Given the description of an element on the screen output the (x, y) to click on. 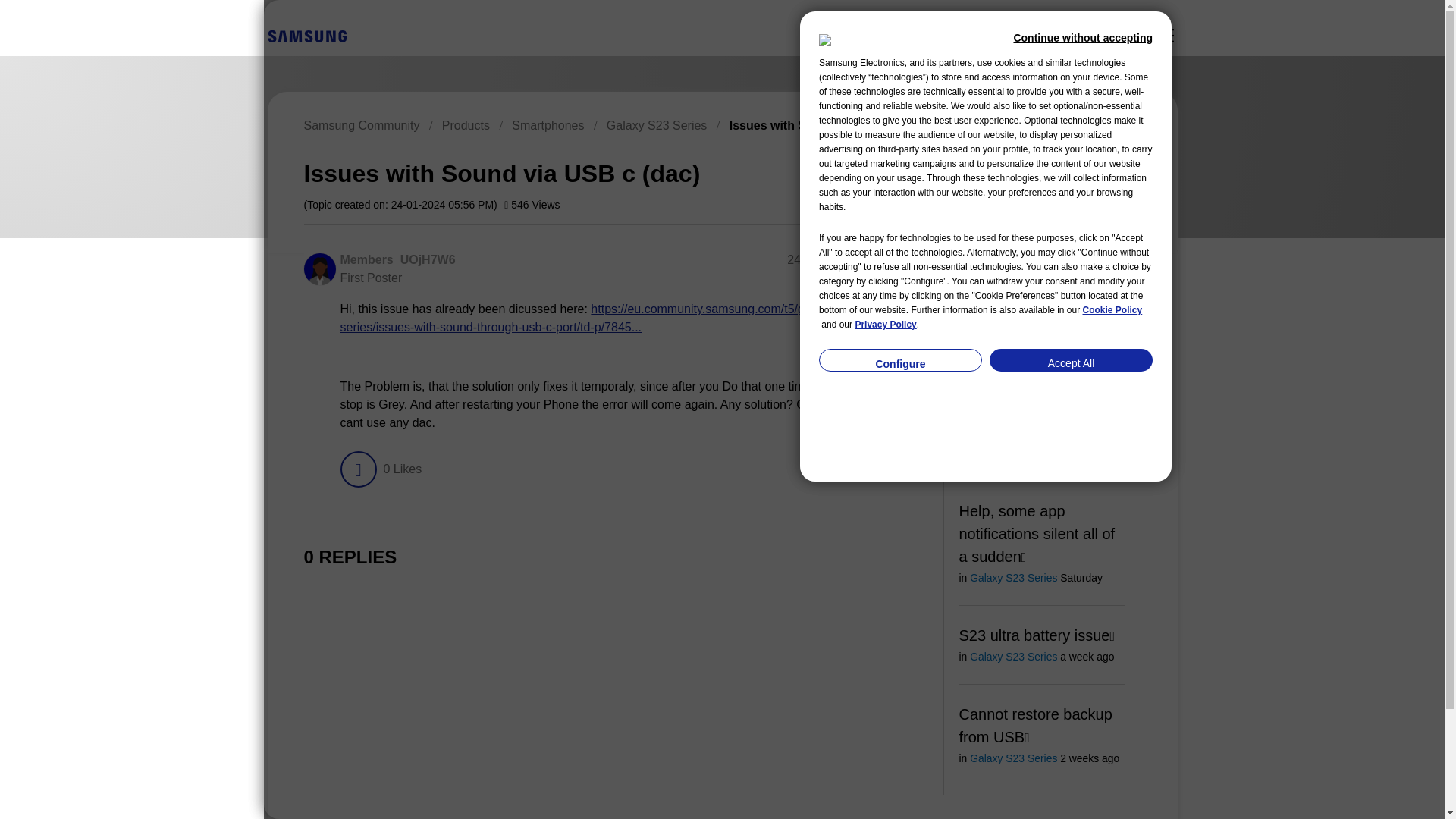
Show option menu (1072, 171)
Galaxy S23 Series (657, 124)
REPLY (874, 469)
The total number of likes this post has received. (401, 469)
English (306, 34)
s23 dual sim not working (1013, 419)
Topic Options (1072, 171)
Click here to give likes to this post. (357, 469)
Community (1164, 35)
Samsung Community (360, 124)
